Given the description of an element on the screen output the (x, y) to click on. 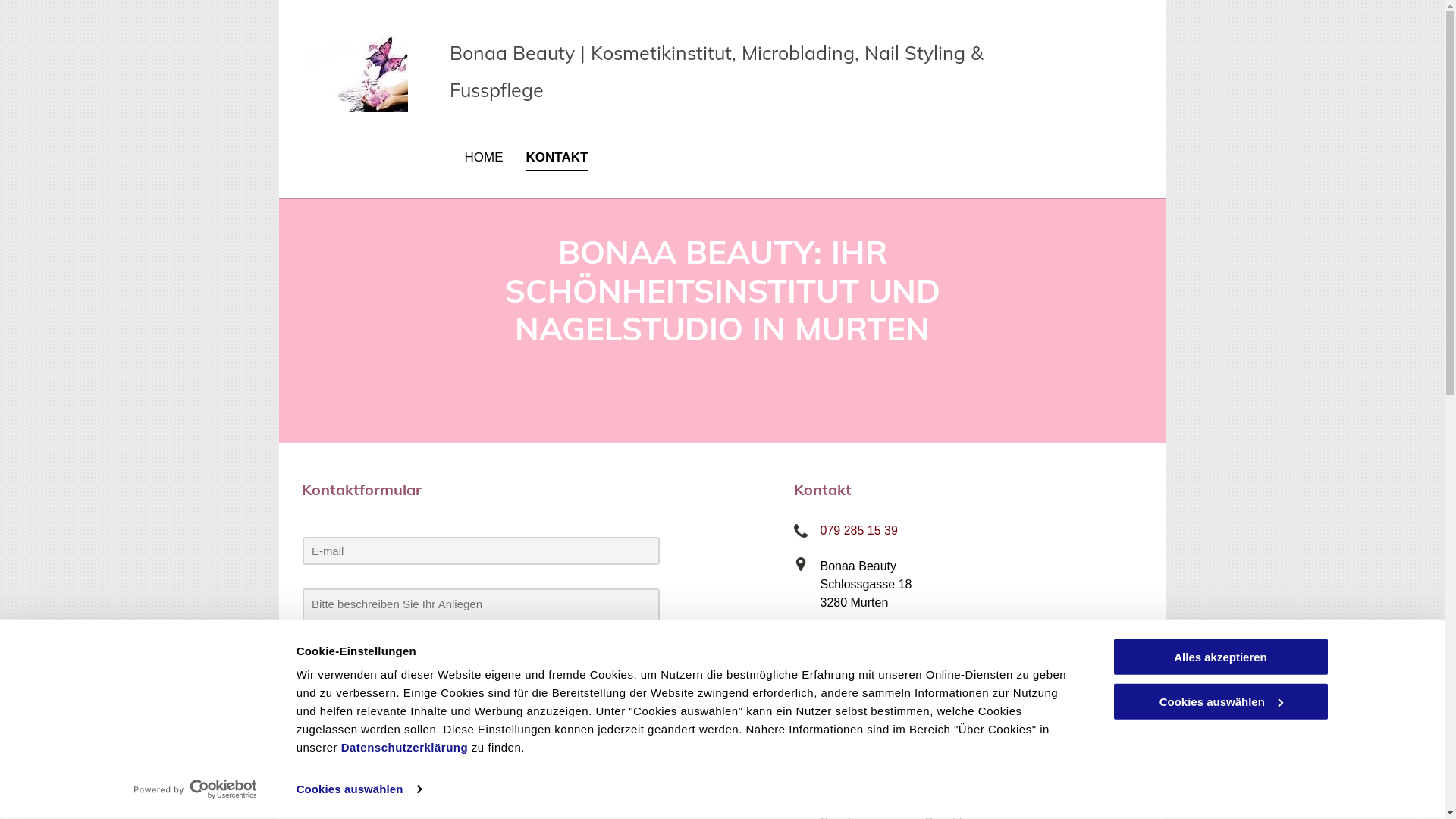
079 285 15 39 Element type: text (858, 530)
Senden Element type: text (513, 709)
KONTAKT Element type: text (556, 157)
bonaa.beauty@gmail.com Element type: text (890, 637)
Alles akzeptieren Element type: text (1219, 656)
HOME Element type: text (483, 157)
Fusspflege Element type: text (496, 88)
http://www.bonaa-beauty.ch Element type: text (894, 673)
